Given the description of an element on the screen output the (x, y) to click on. 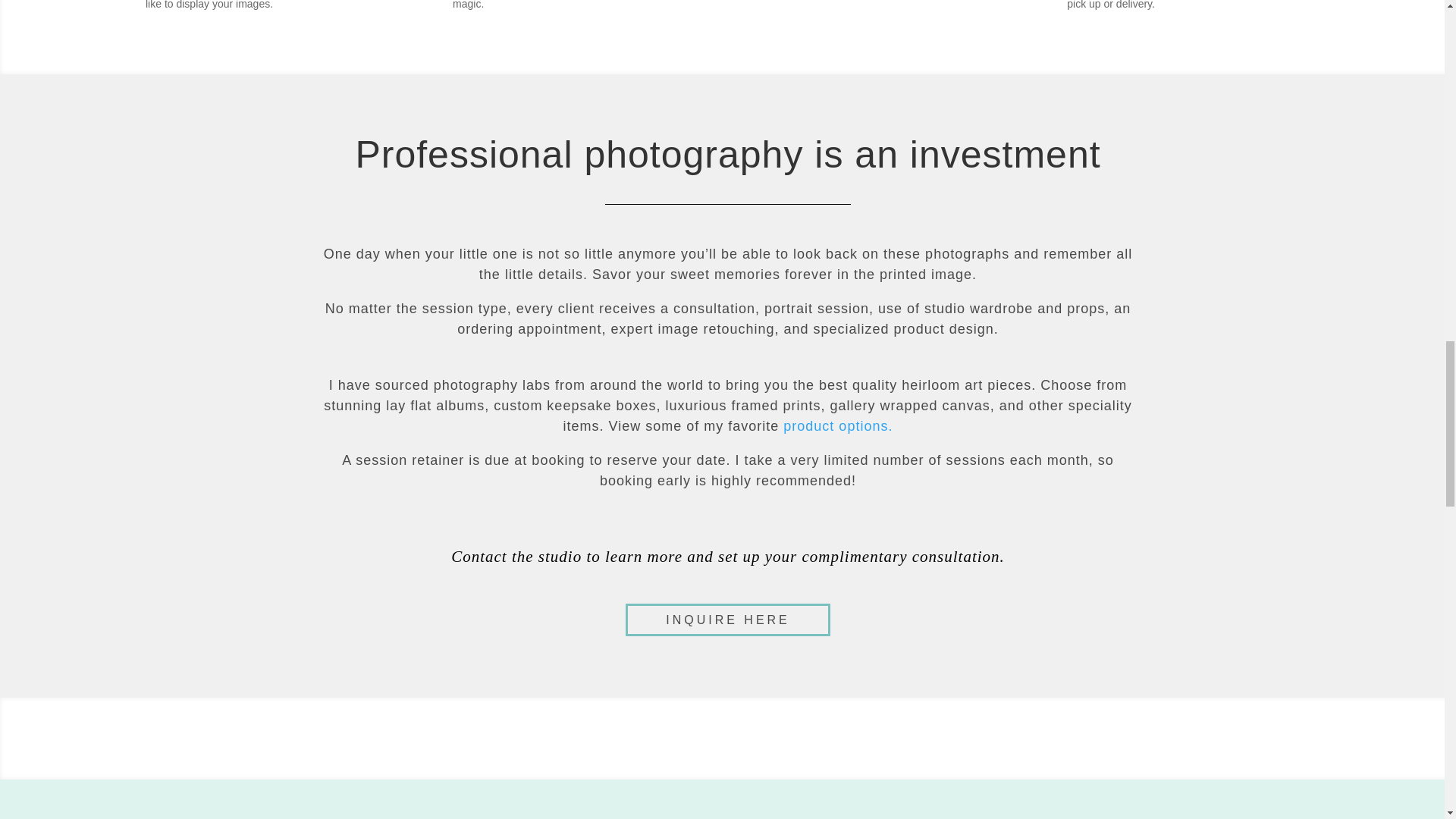
INQUIRE HERE (727, 619)
product options. (837, 426)
